Given the description of an element on the screen output the (x, y) to click on. 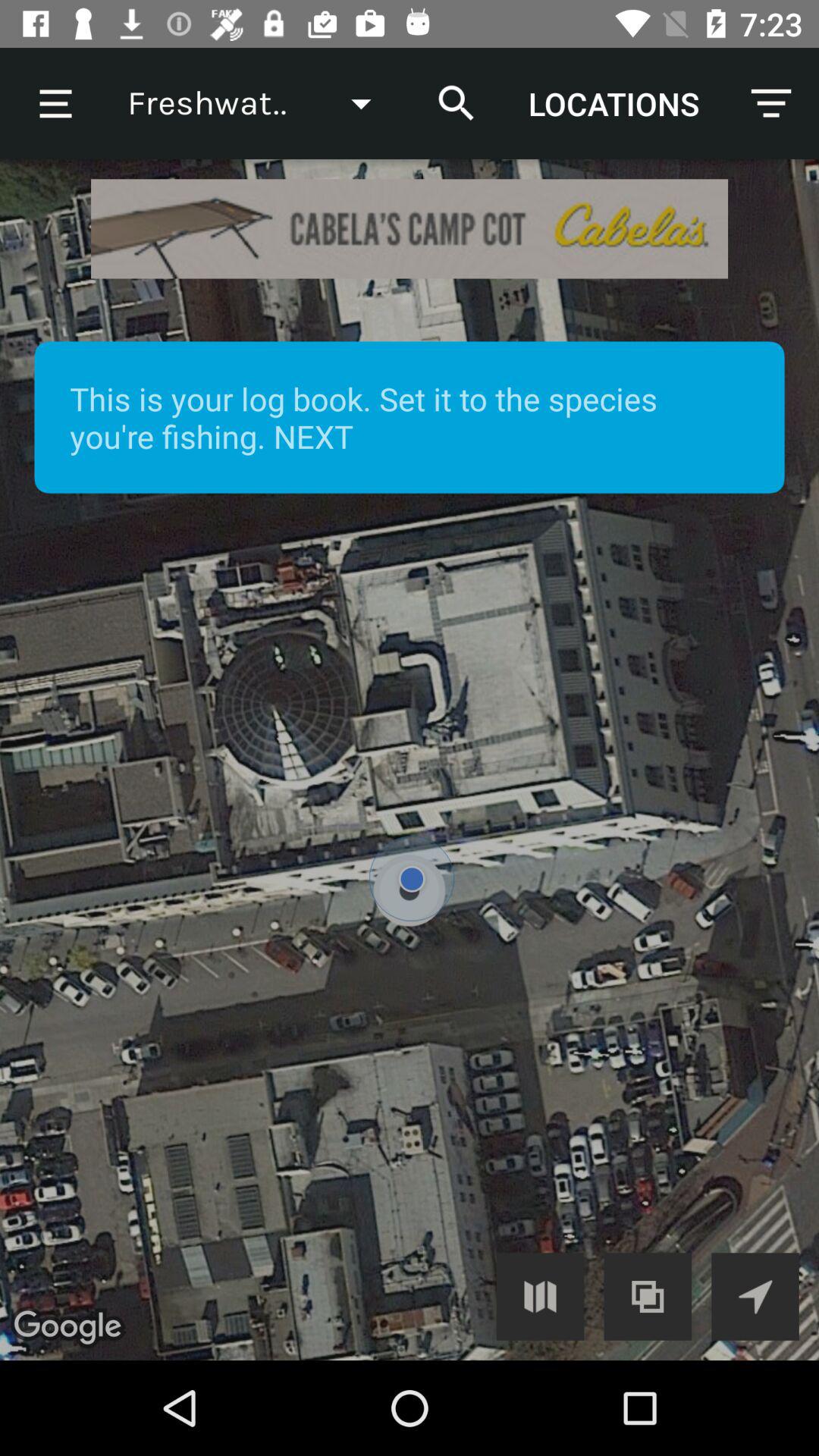
compass needle pointing north (755, 1296)
